Given the description of an element on the screen output the (x, y) to click on. 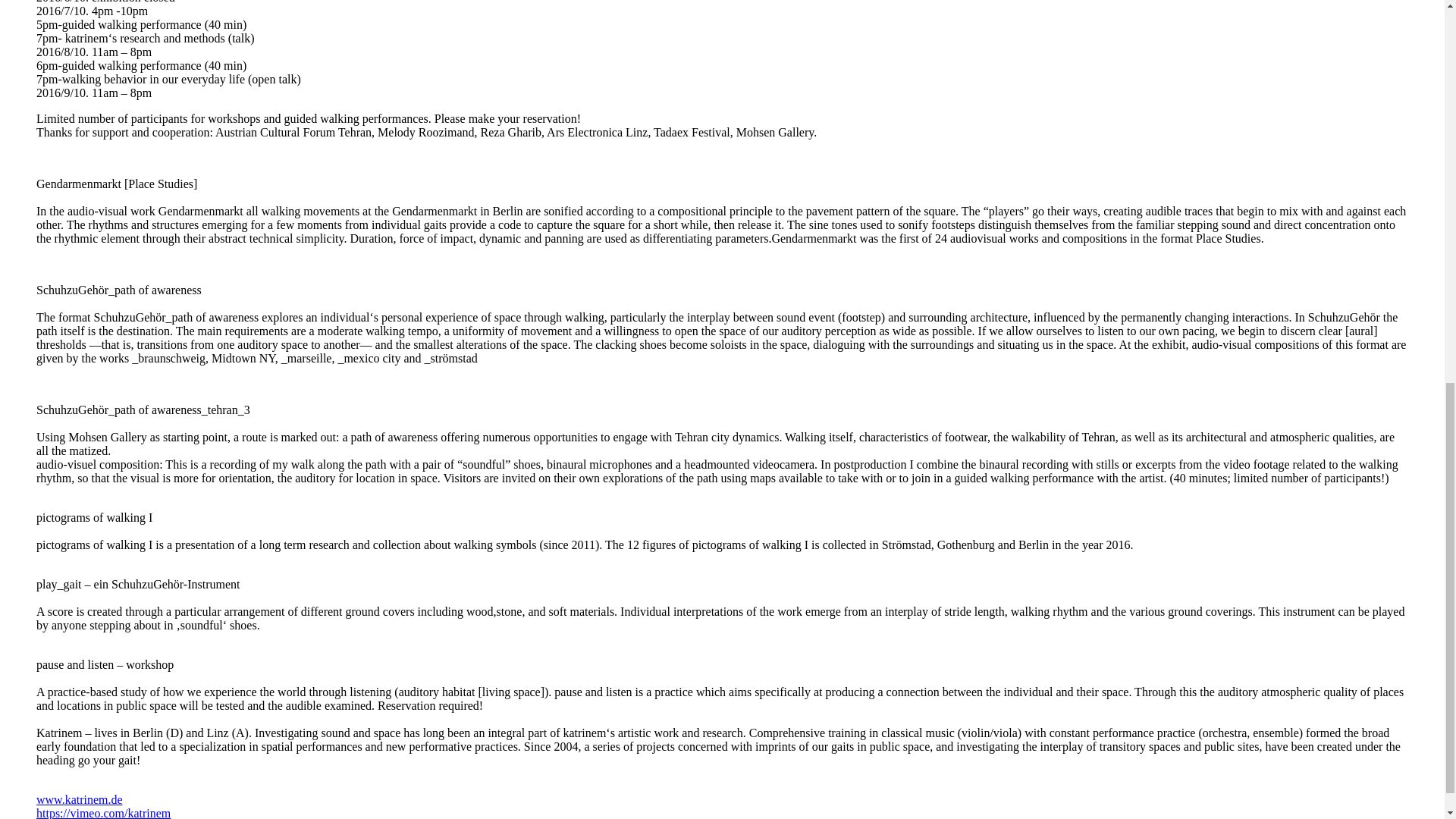
www.katrinem.de (79, 799)
